Given the description of an element on the screen output the (x, y) to click on. 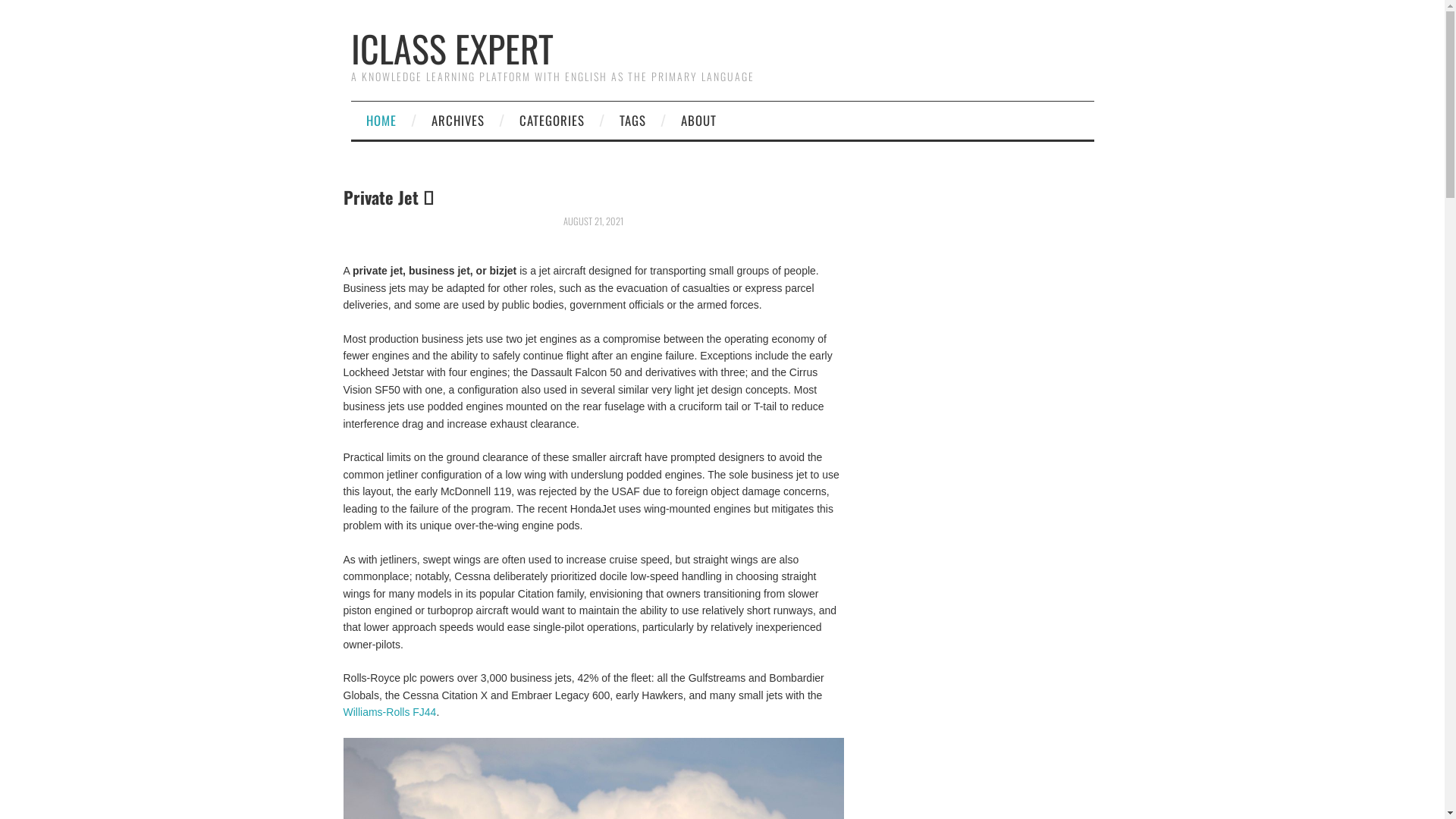
ABOUT Element type: text (698, 120)
HOME Element type: text (380, 120)
ICLASS EXPERT Element type: text (451, 48)
AUGUST 21, 2021 Element type: text (593, 220)
ARCHIVES Element type: text (456, 120)
TAGS Element type: text (631, 120)
CATEGORIES Element type: text (551, 120)
Williams-Rolls FJ44 Element type: text (389, 712)
